Given the description of an element on the screen output the (x, y) to click on. 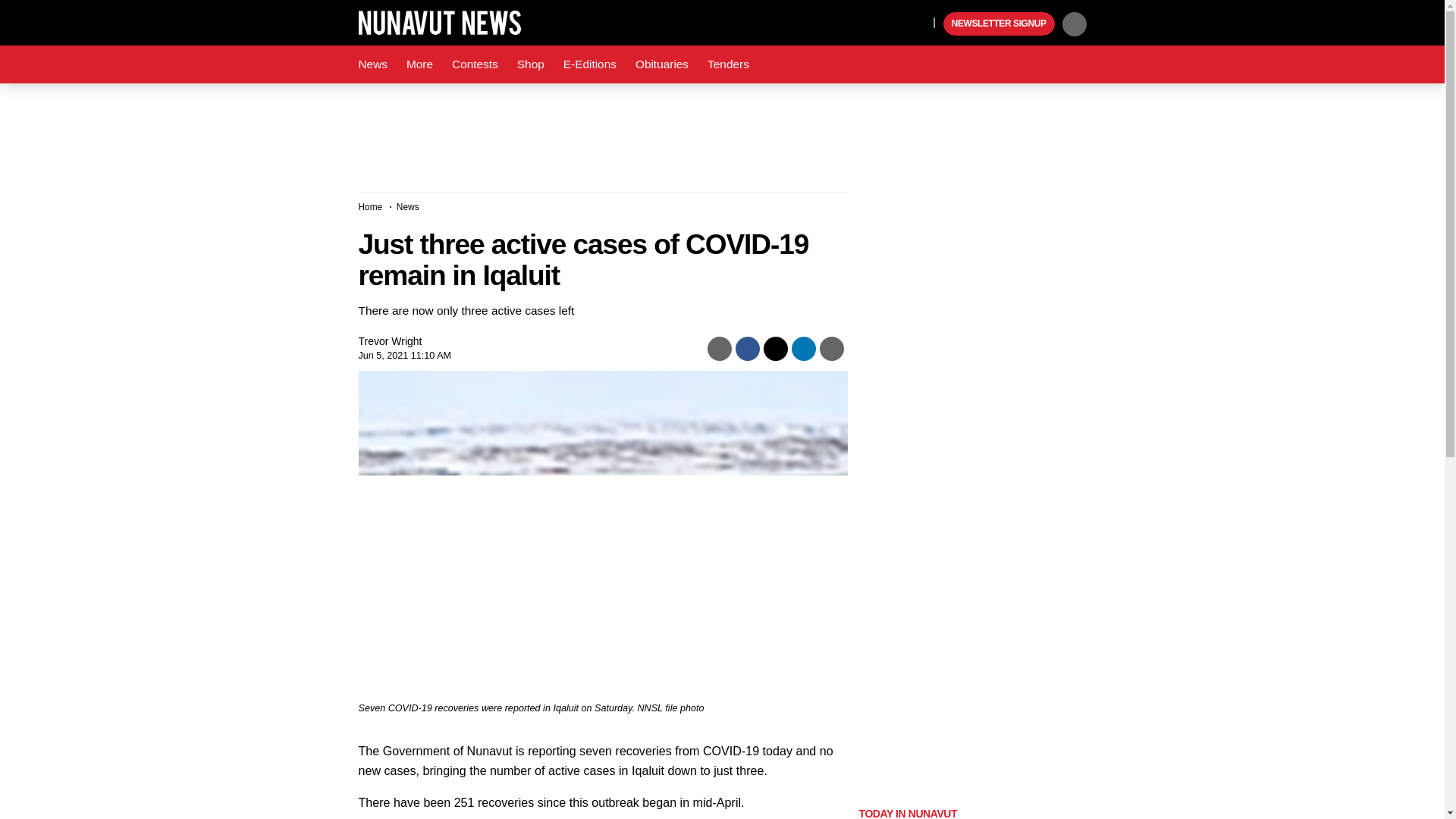
Obituaries (661, 64)
E-Editions (590, 64)
Home (369, 206)
NEWSLETTER SIGNUP (998, 24)
Facebook (850, 21)
Instagram (917, 21)
Tenders (728, 64)
News (407, 206)
X (881, 21)
